Given the description of an element on the screen output the (x, y) to click on. 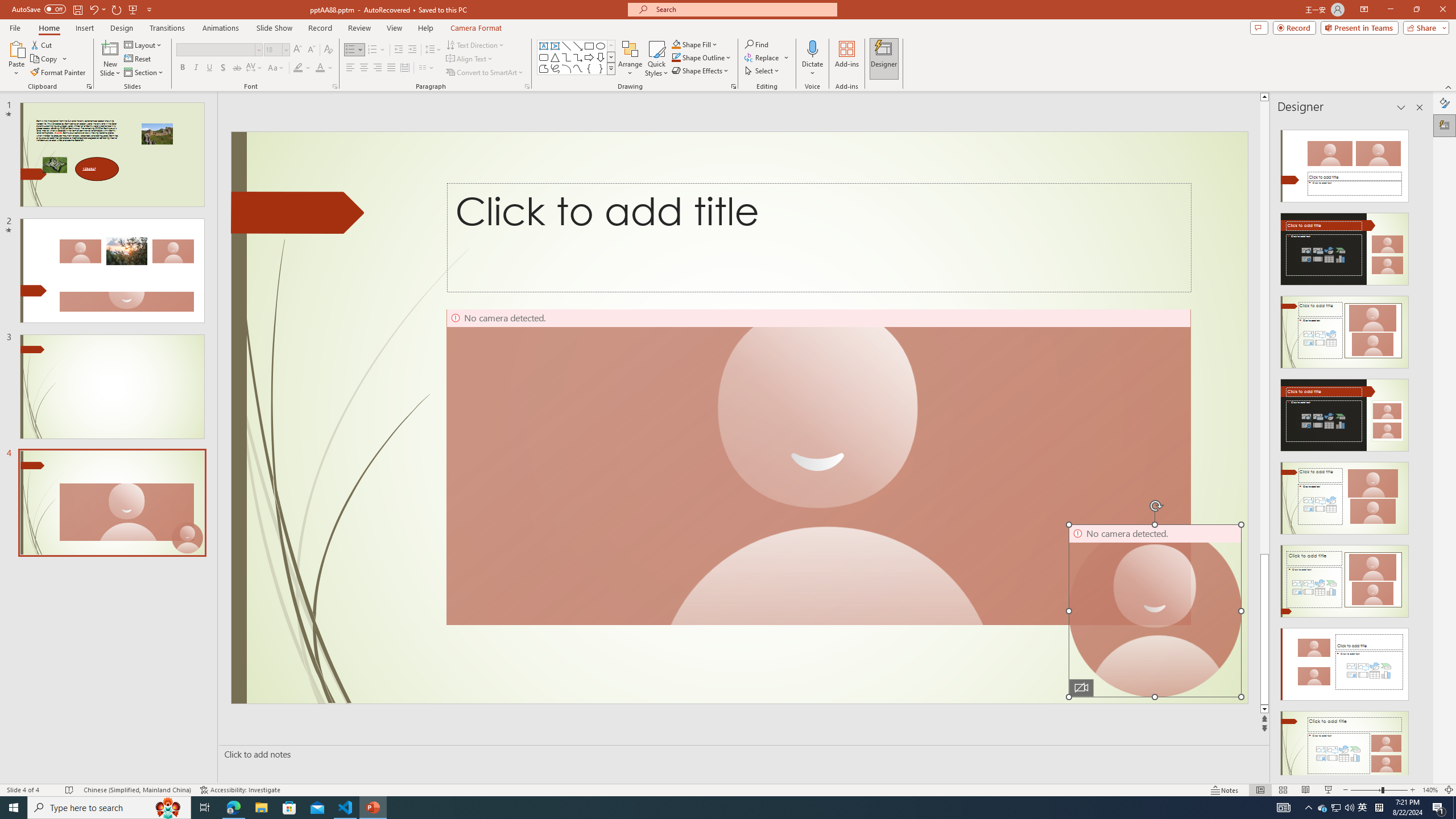
Camera 4, No camera detected. (1154, 610)
Class: NetUIScrollBar (1418, 447)
